Given the description of an element on the screen output the (x, y) to click on. 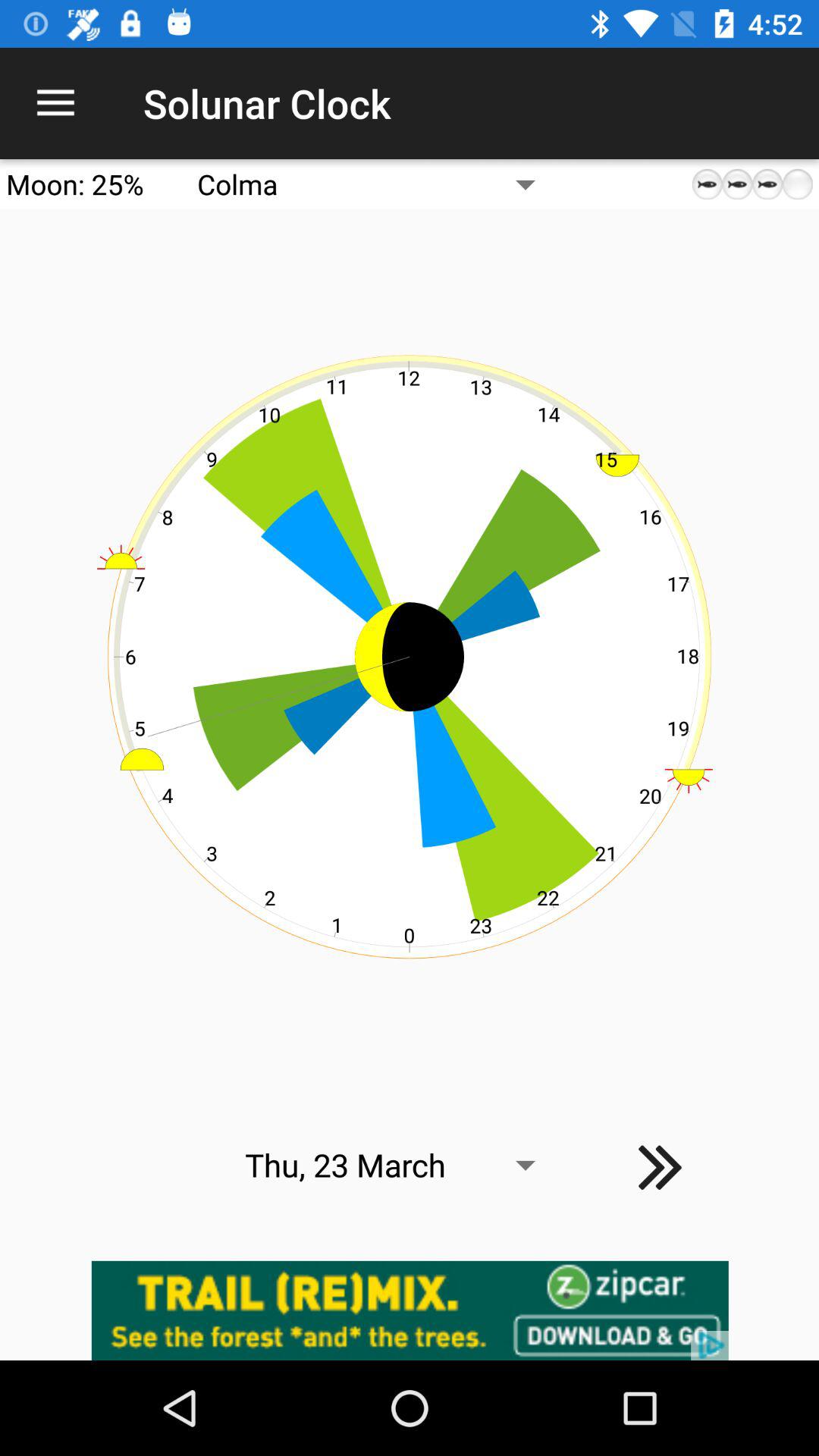
view the advertisement (409, 1310)
